Given the description of an element on the screen output the (x, y) to click on. 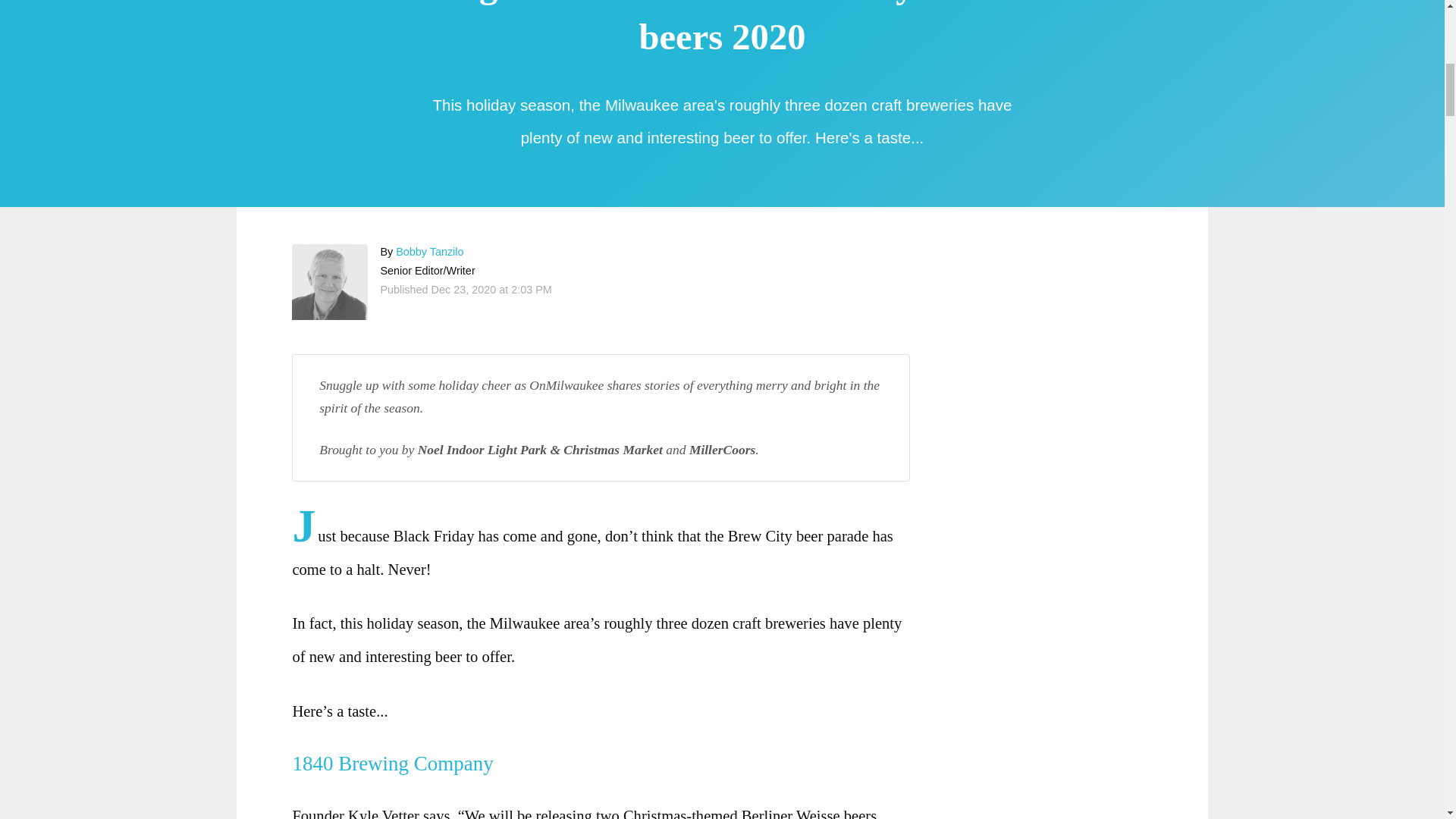
1840 Brewing Company (397, 763)
More articles by Bobby Tanzilo (429, 251)
MillerCoors (721, 449)
Bobby Tanzilo (429, 251)
Bobby Tanzilo (330, 282)
